Given the description of an element on the screen output the (x, y) to click on. 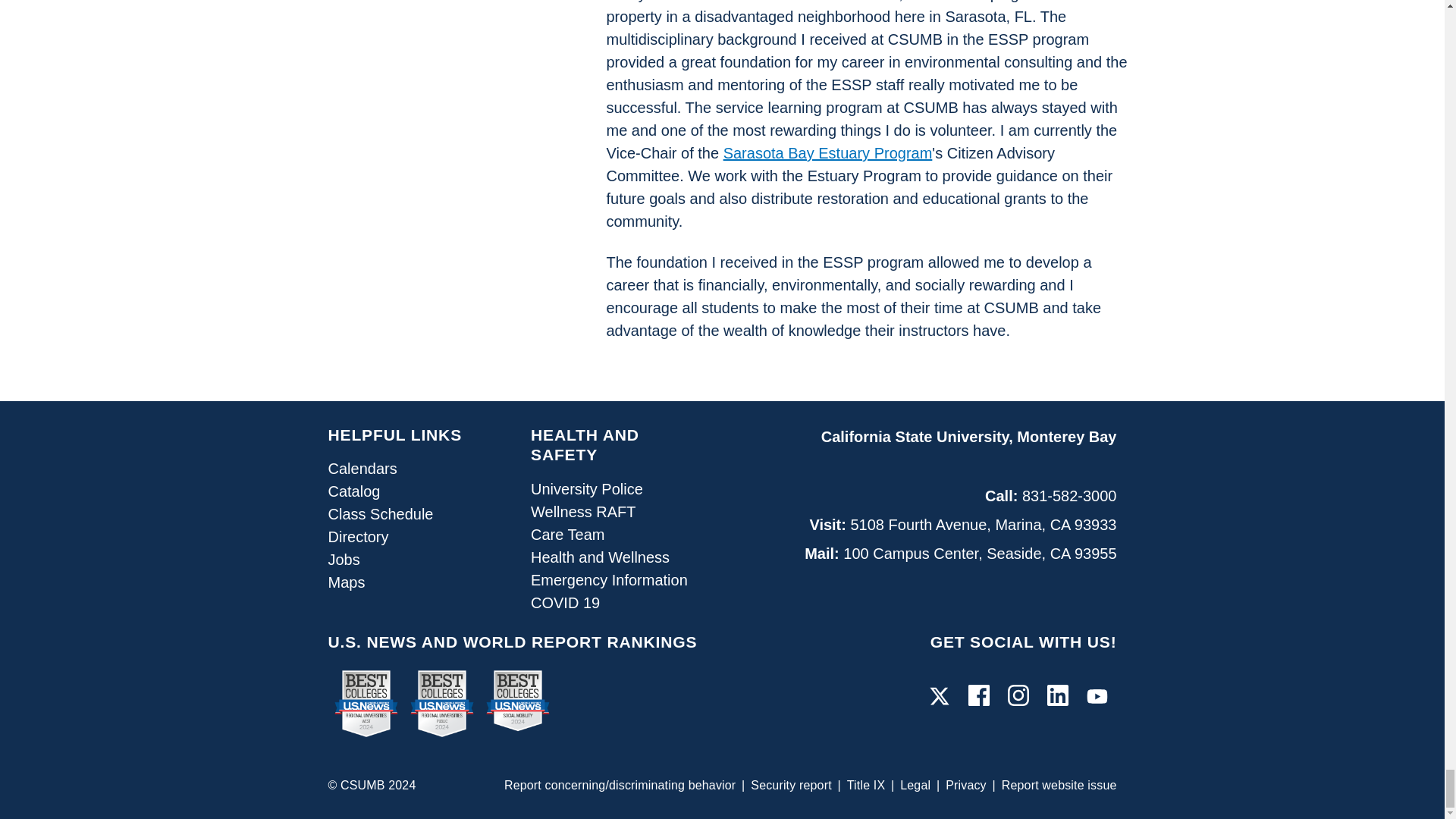
You Tube (1096, 696)
Twitter (938, 695)
